Given the description of an element on the screen output the (x, y) to click on. 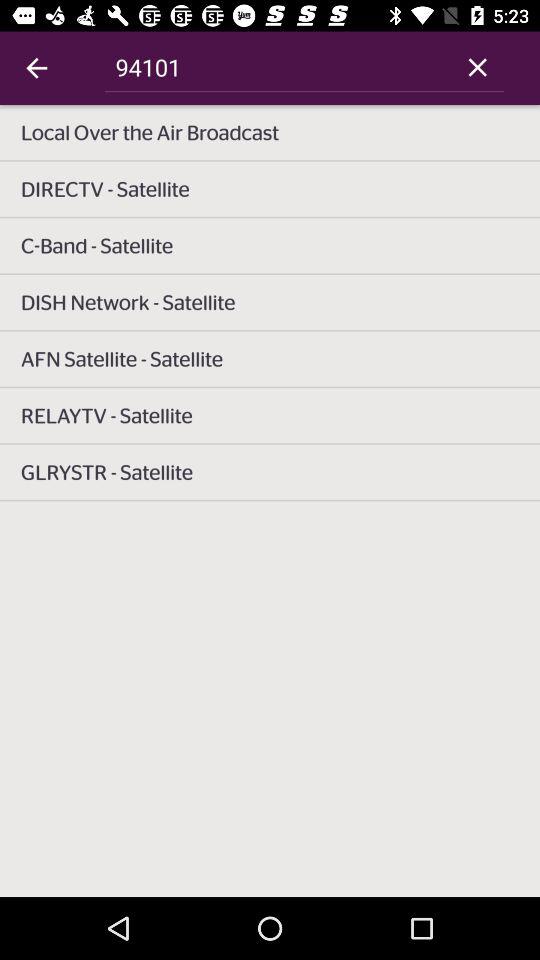
select item at the top right corner (477, 67)
